Given the description of an element on the screen output the (x, y) to click on. 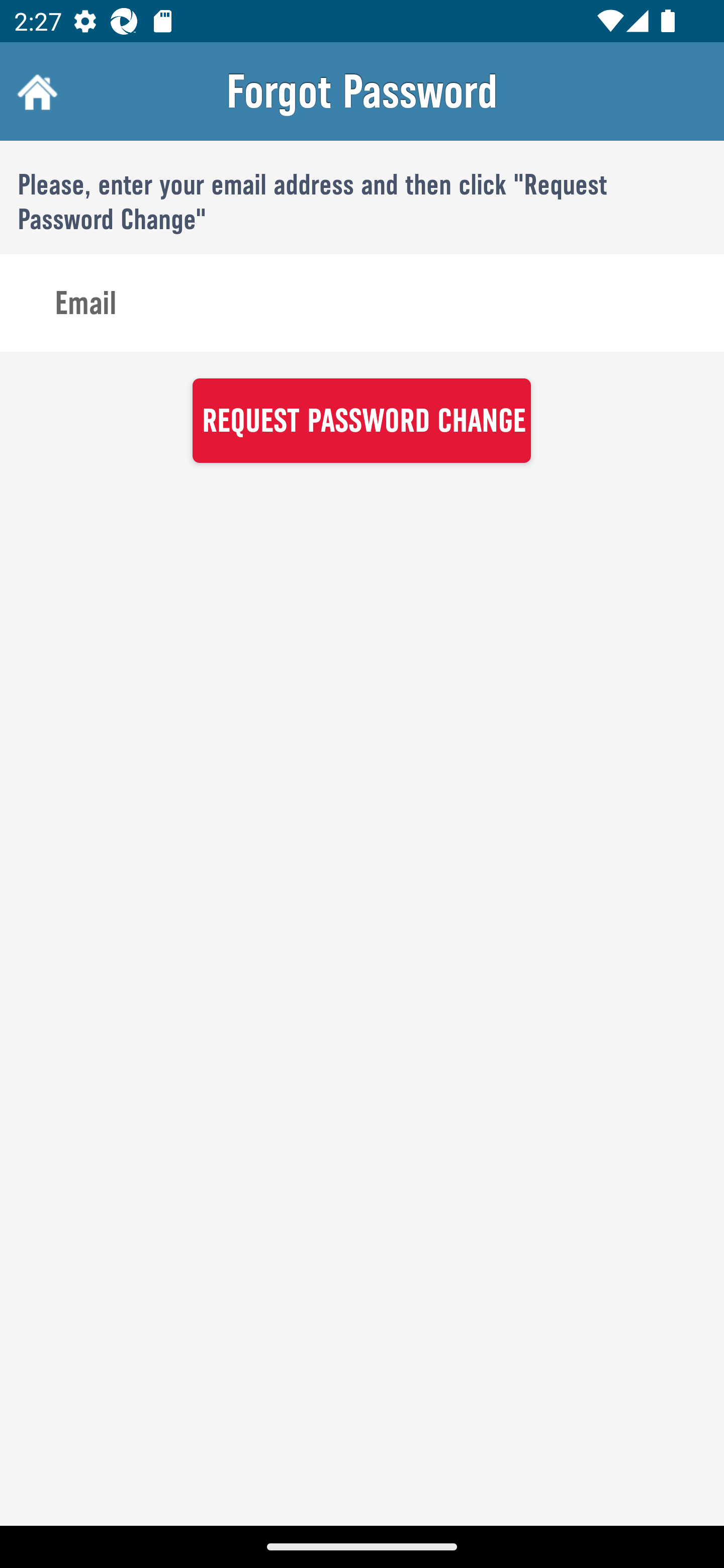
Home (35, 91)
Email (361, 303)
REQUEST PASSWORD CHANGE (361, 419)
